Given the description of an element on the screen output the (x, y) to click on. 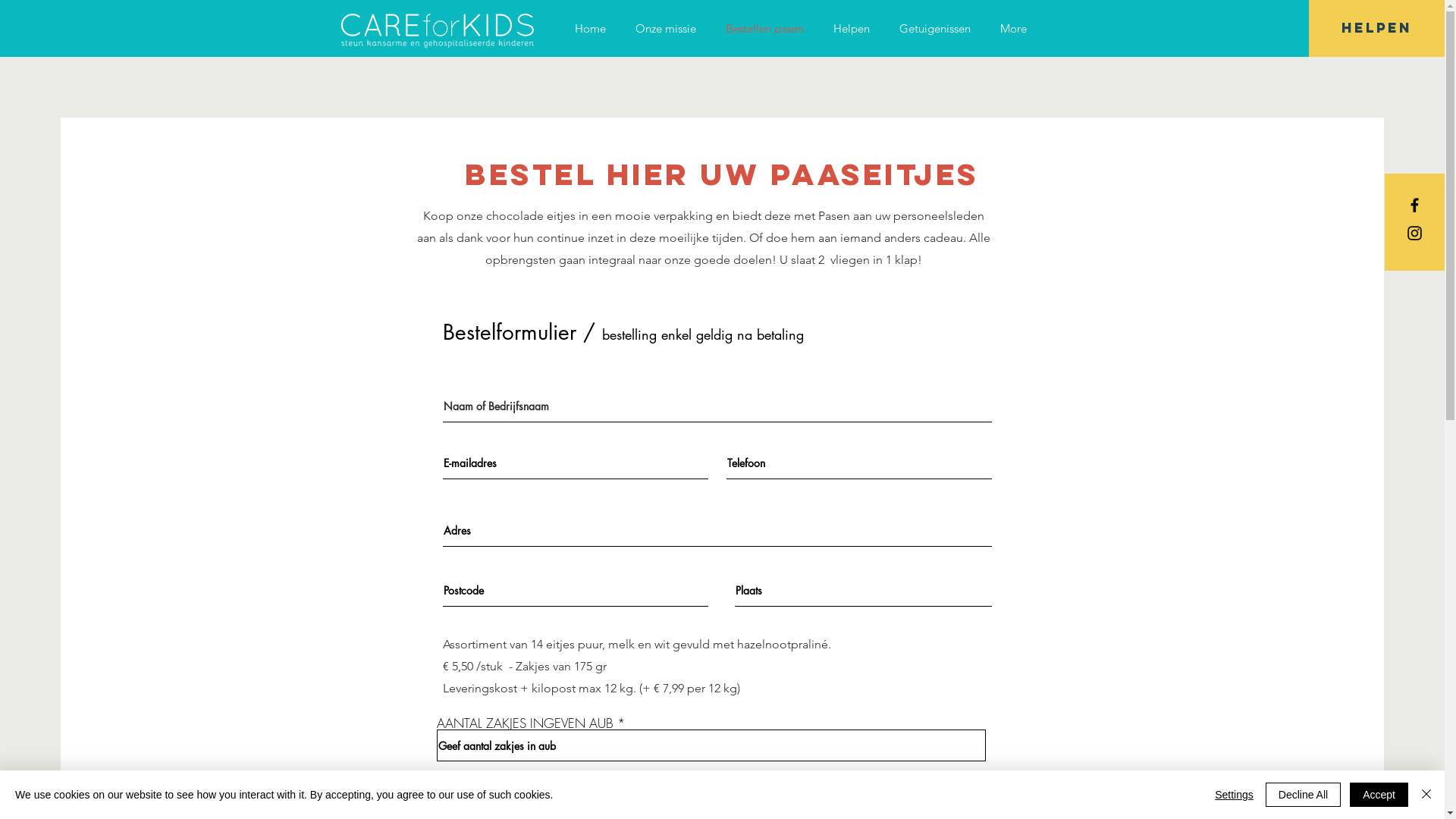
Onze missie Element type: text (665, 28)
Home Element type: text (589, 28)
Getuigenissen Element type: text (934, 28)
HELPEN Element type: text (1376, 28)
Bestellen pasen Element type: text (765, 28)
Accept Element type: text (1378, 794)
Helpen Element type: text (851, 28)
Decline All Element type: text (1302, 794)
